Given the description of an element on the screen output the (x, y) to click on. 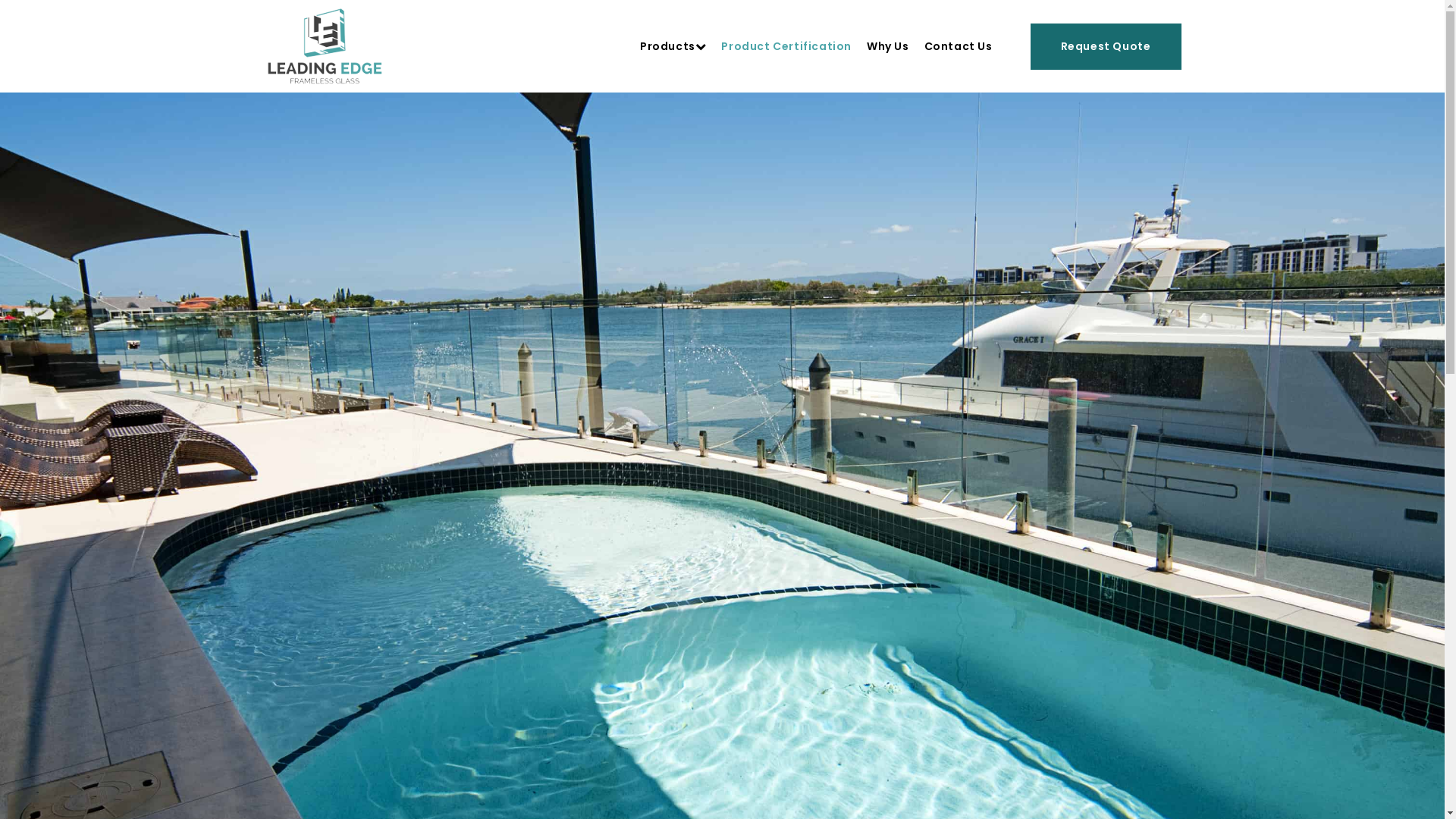
Contact Us Element type: text (958, 46)
Request Quote Element type: text (1105, 46)
Glass Balustrade Gold Coast Element type: hover (324, 45)
Products Element type: text (673, 46)
Why Us Element type: text (887, 46)
Product Certification Element type: text (786, 46)
